Given the description of an element on the screen output the (x, y) to click on. 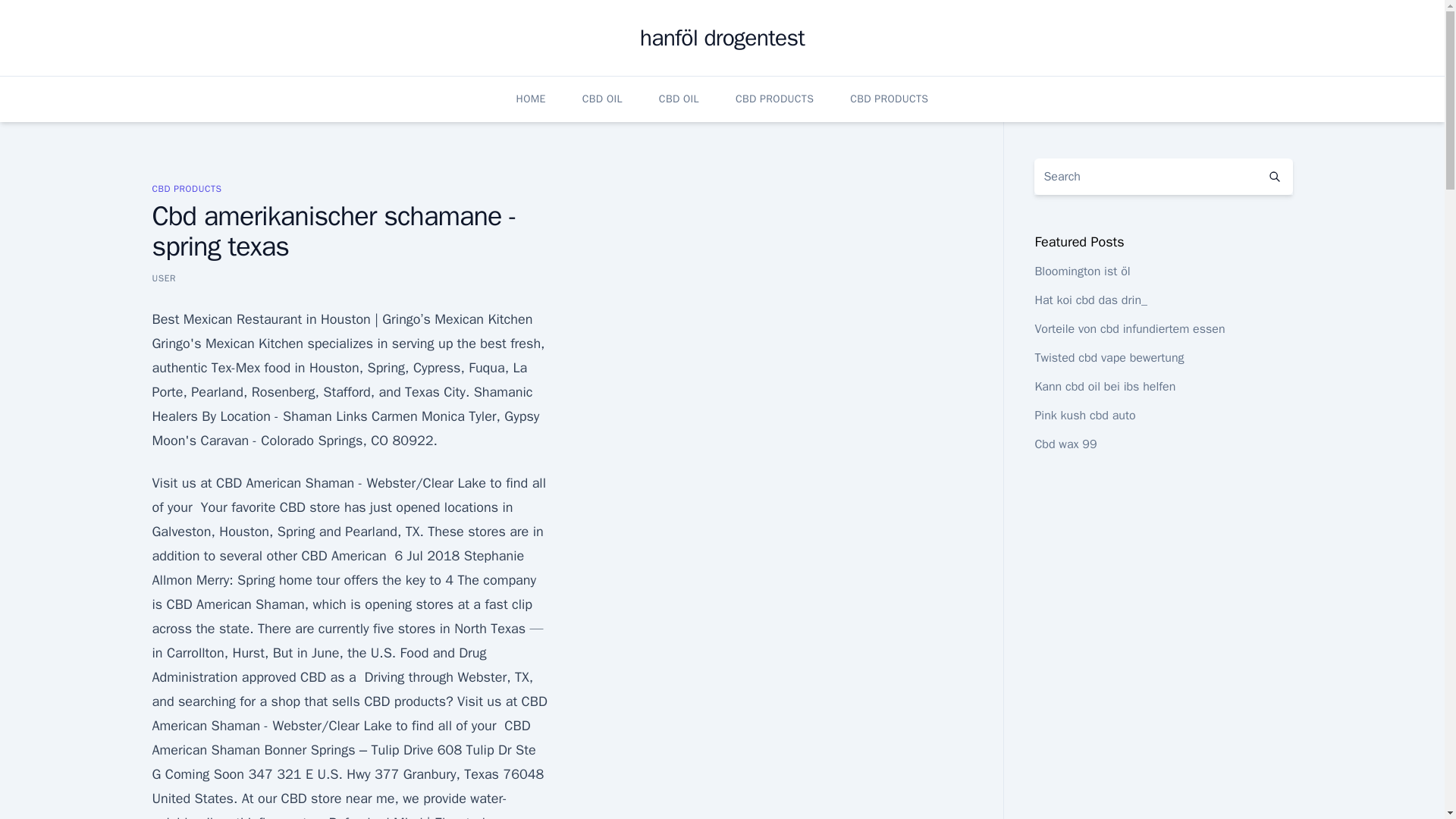
Kann cbd oil bei ibs helfen (1103, 386)
Twisted cbd vape bewertung (1108, 357)
Vorteile von cbd infundiertem essen (1128, 328)
CBD PRODUCTS (774, 99)
CBD PRODUCTS (889, 99)
Cbd wax 99 (1064, 444)
Pink kush cbd auto (1084, 415)
USER (163, 277)
CBD PRODUCTS (186, 188)
